Given the description of an element on the screen output the (x, y) to click on. 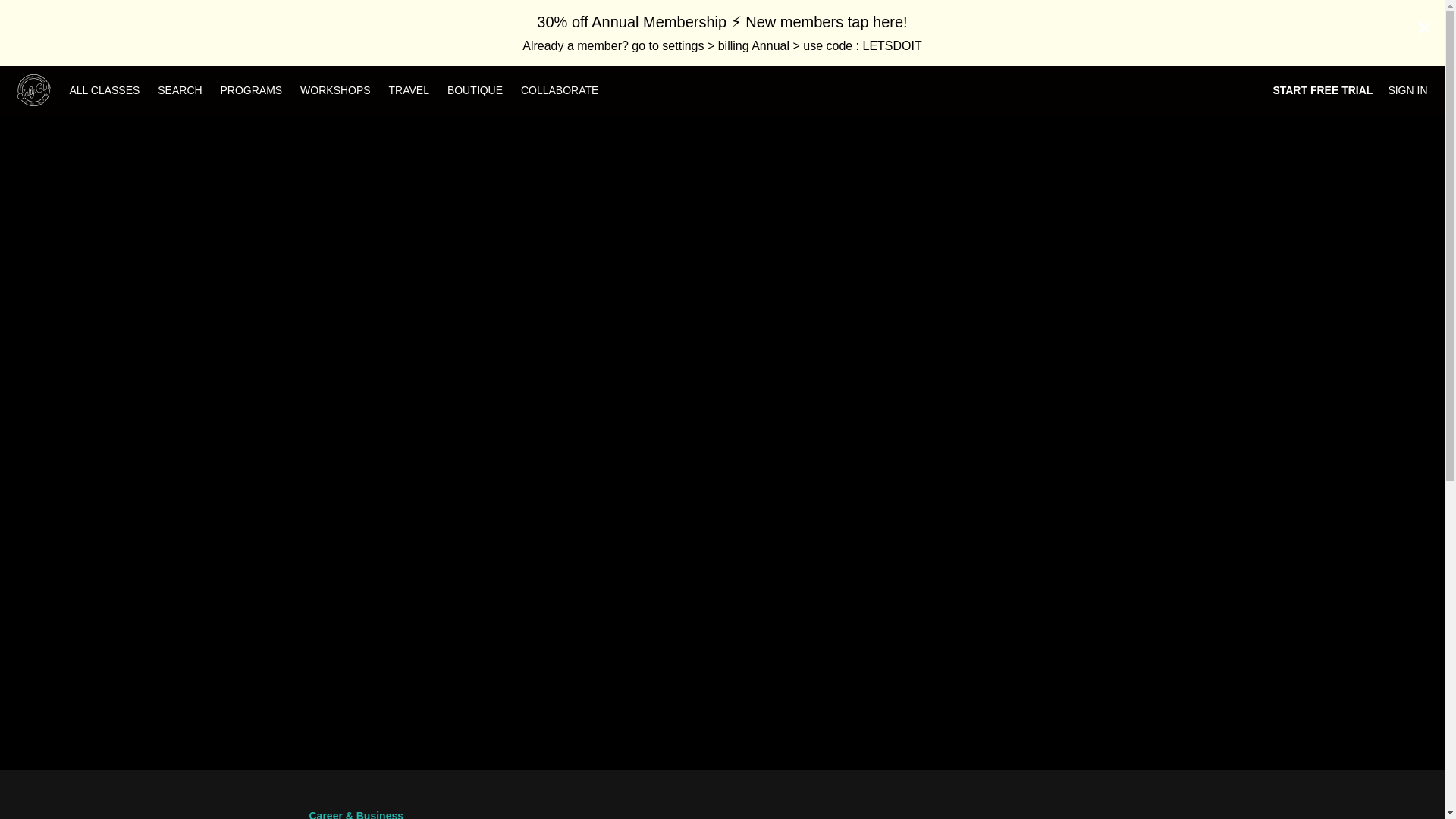
WORKSHOPS (335, 90)
SEARCH (180, 90)
BOUTIQUE (475, 90)
ALL CLASSES (105, 90)
Skip to main content (48, 7)
TRAVEL (408, 90)
START FREE TRIAL (1322, 90)
SIGN IN (1406, 90)
COLLABORATE (559, 90)
PROGRAMS (250, 90)
